Given the description of an element on the screen output the (x, y) to click on. 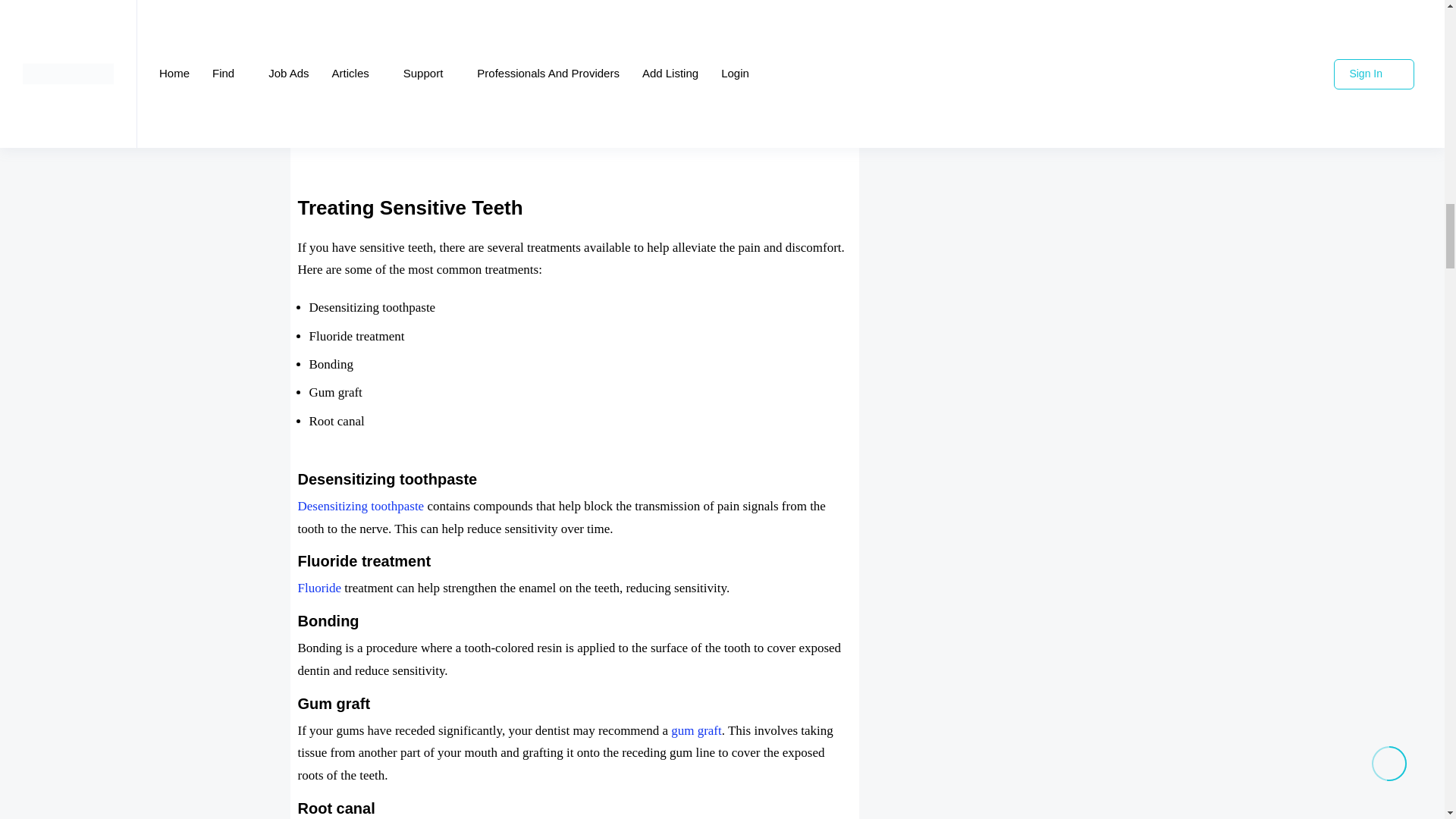
Desensitizing toothpaste (360, 505)
gum graft (696, 730)
Fluoride (318, 587)
